Given the description of an element on the screen output the (x, y) to click on. 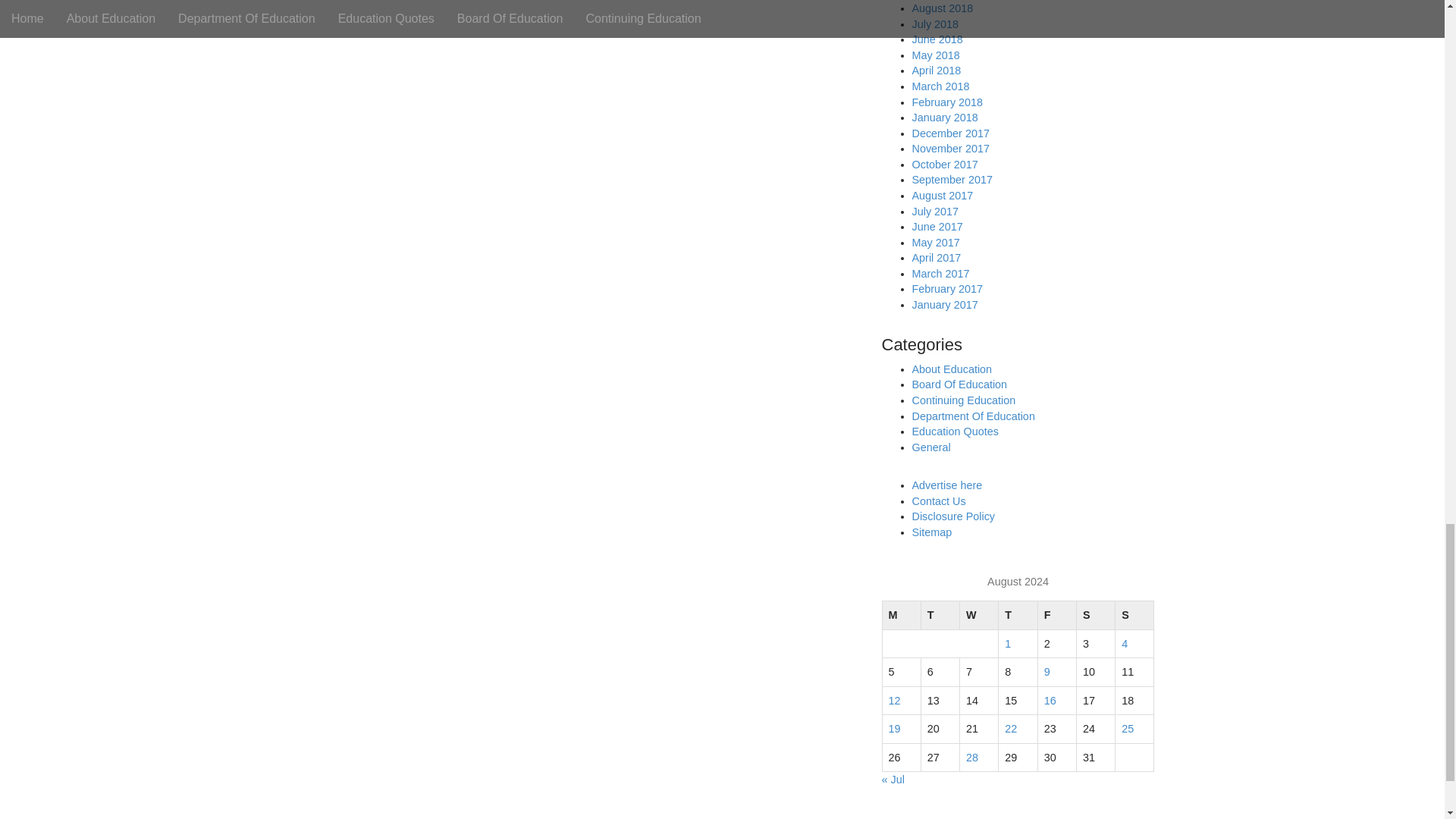
Tuesday (939, 614)
Monday (901, 614)
Saturday (1095, 614)
Wednesday (978, 614)
Sunday (1134, 614)
Friday (1055, 614)
Thursday (1017, 614)
